Given the description of an element on the screen output the (x, y) to click on. 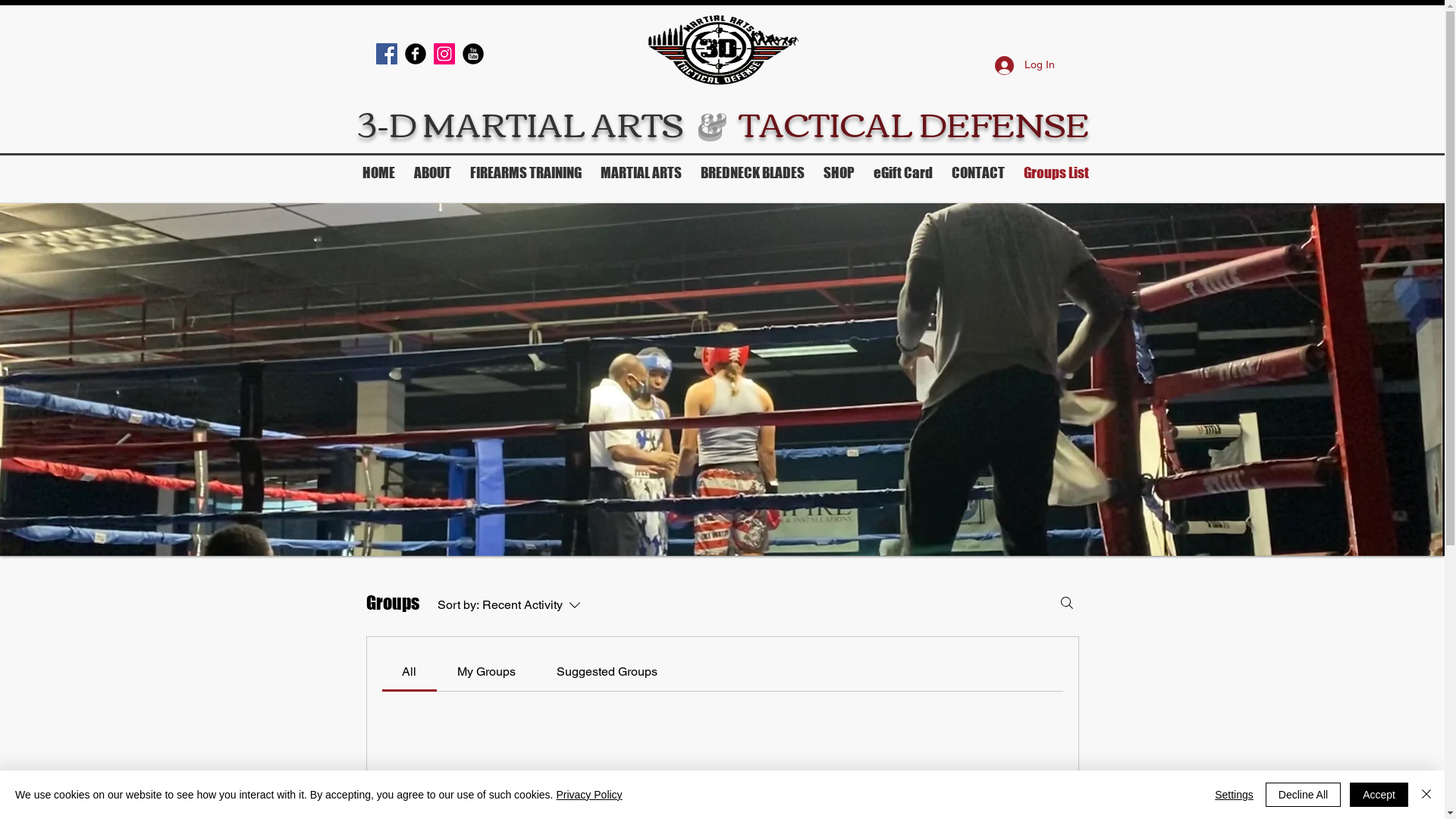
Privacy Policy Element type: text (588, 794)
Groups List Element type: text (1056, 172)
Accept Element type: text (1378, 794)
Sort by:
Recent Activity Element type: text (519, 605)
logo-final2.png Element type: hover (721, 48)
BREDNECK BLADES Element type: text (752, 172)
HOME Element type: text (378, 172)
ABOUT Element type: text (432, 172)
SHOP Element type: text (839, 172)
MARTIAL ARTS Element type: text (641, 172)
FIREARMS TRAINING Element type: text (526, 172)
Decline All Element type: text (1302, 794)
Log In Element type: text (1024, 65)
eGift Card Element type: text (903, 172)
CONTACT Element type: text (977, 172)
